Given the description of an element on the screen output the (x, y) to click on. 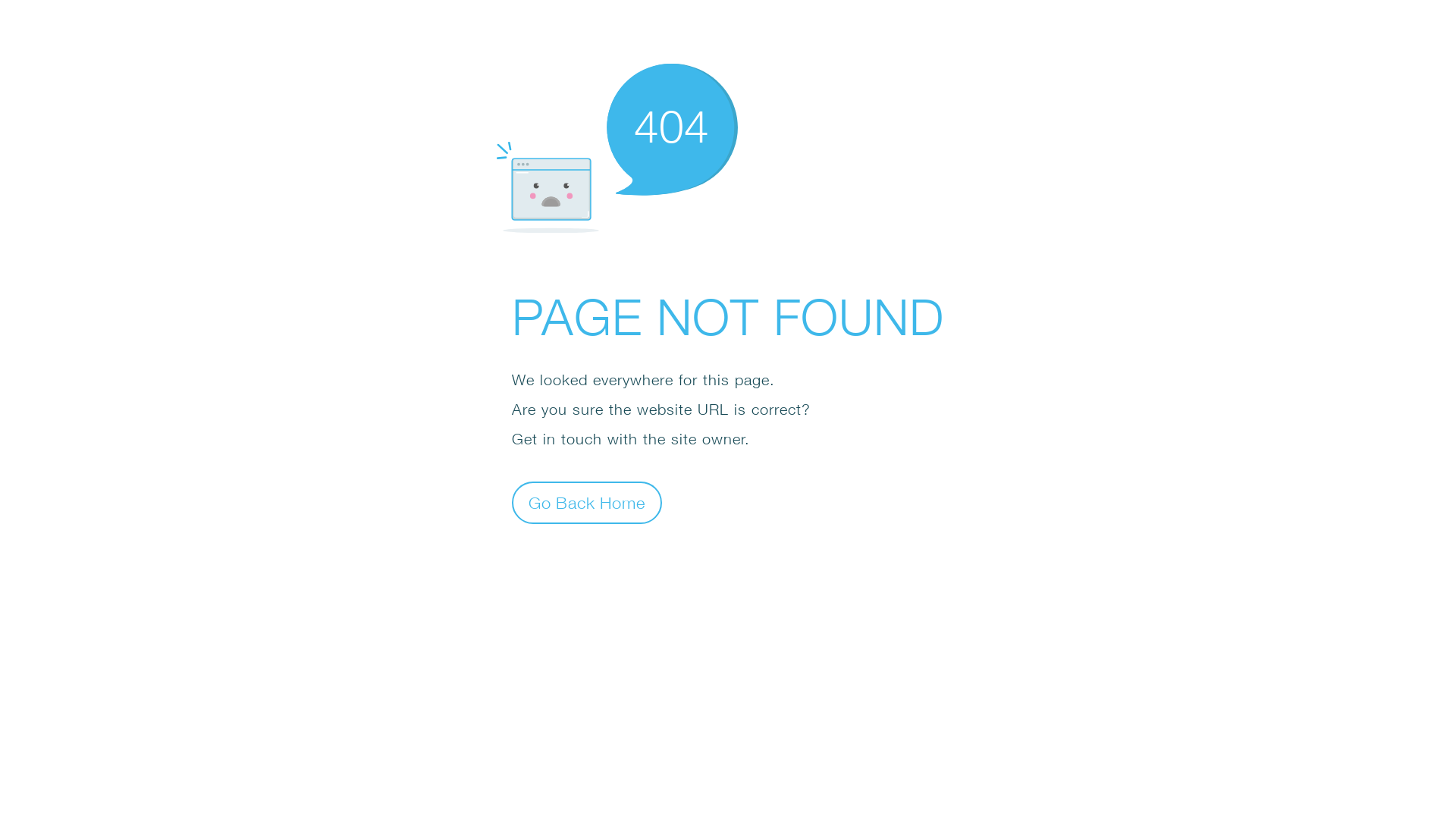
Go Back Home Element type: text (586, 502)
